Given the description of an element on the screen output the (x, y) to click on. 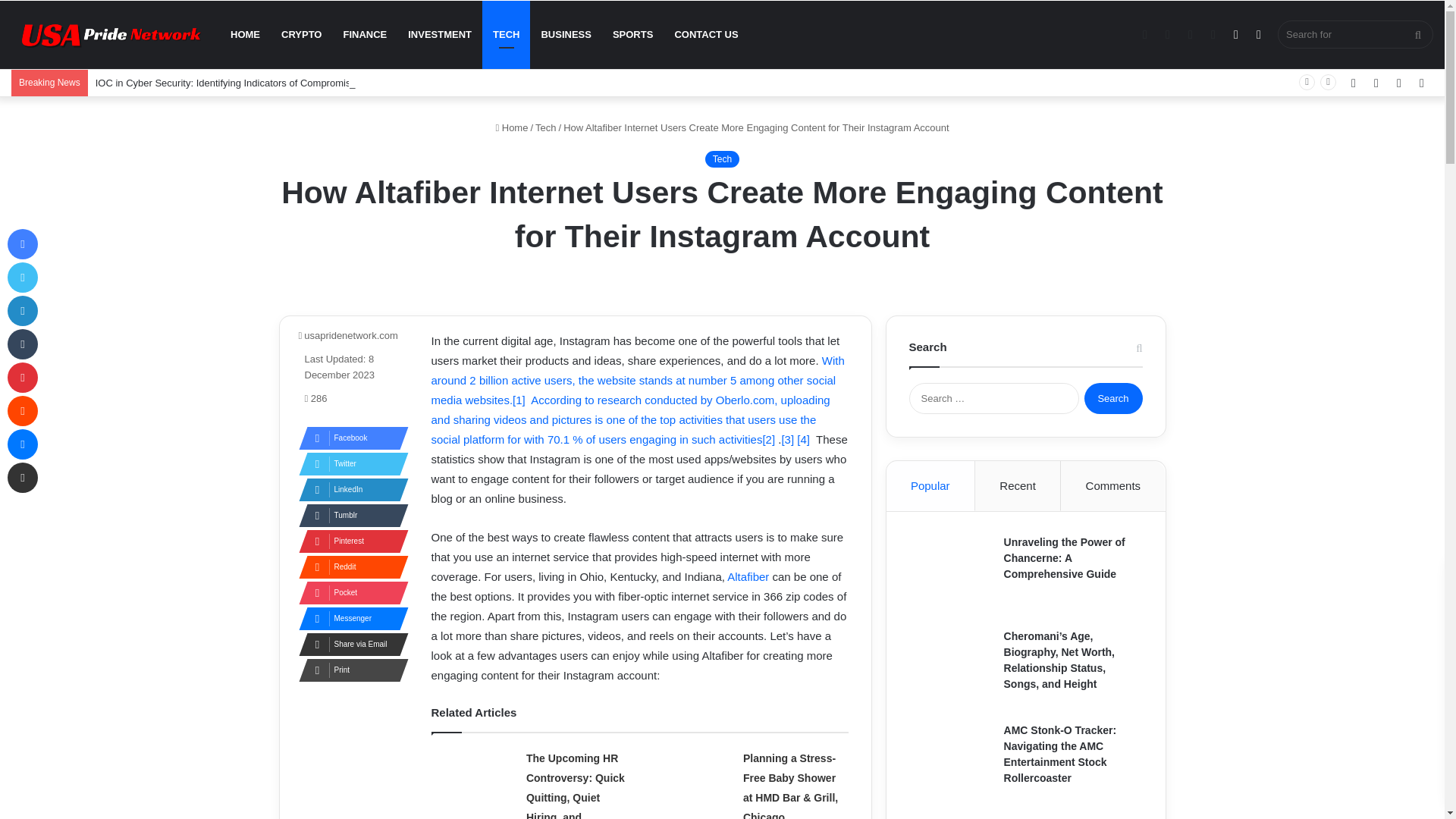
Twitter (348, 463)
Pinterest (348, 540)
Reddit (348, 567)
Altafiber (747, 576)
CONTACT US (705, 34)
usapridenetwork.com (347, 335)
FINANCE (364, 34)
IOC in Cyber Security: Identifying Indicators of Compromise (226, 82)
Pocket (348, 592)
LinkedIn (348, 489)
